Given the description of an element on the screen output the (x, y) to click on. 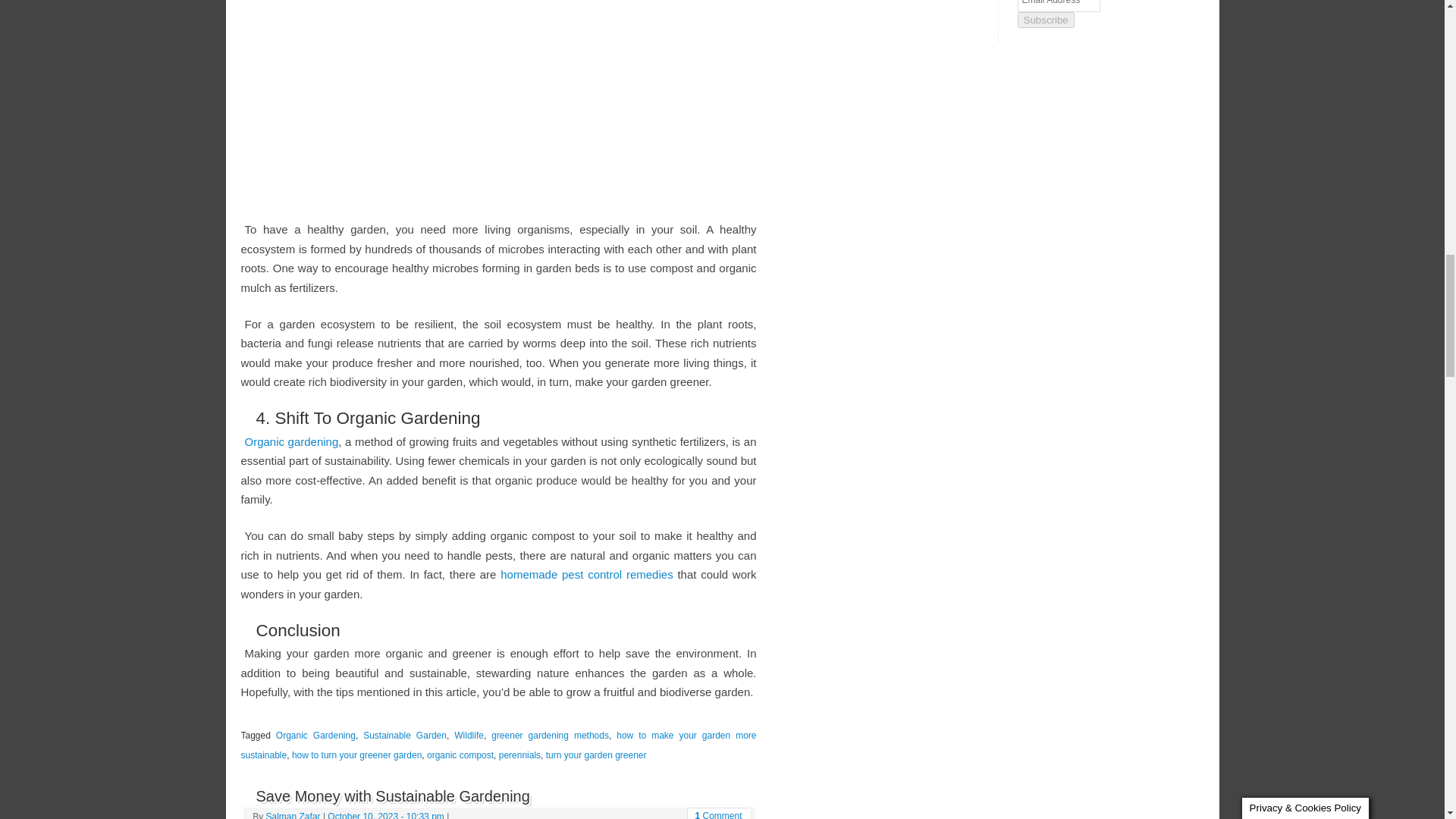
Save Money with Sustainable Gardening (392, 795)
View all posts by Salman Zafar (293, 815)
October 10, 2023 - 10:33 pm (385, 815)
Salman Zafar (293, 815)
organic compost (459, 755)
Organic Gardening (315, 735)
perennials (519, 755)
10:33 pm (385, 815)
Permalink to Save Money with Sustainable Gardening (392, 795)
homemade pest control remedies (586, 574)
Organic gardening (290, 440)
how to make your garden more sustainable (499, 745)
Wildlife (468, 735)
how to turn your greener garden (357, 755)
greener gardening methods (550, 735)
